Given the description of an element on the screen output the (x, y) to click on. 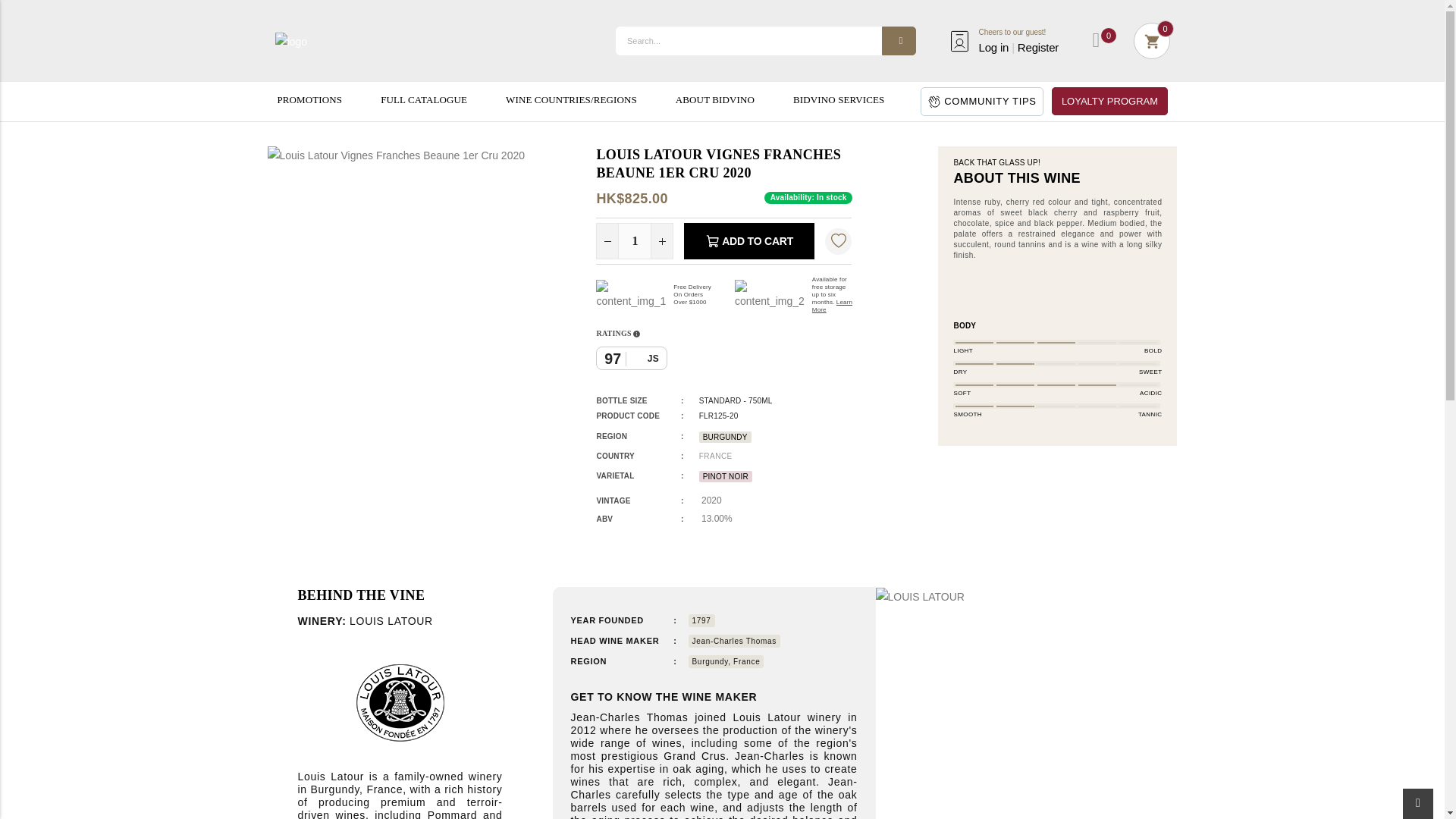
0 (1095, 40)
Register (1037, 47)
PROMOTIONS (309, 99)
Log in (993, 47)
ABOUT BIDVINO (714, 99)
Search (898, 40)
Welcome to bidvino (290, 40)
Add to wishlist (838, 241)
FULL CATALOGUE (423, 99)
FULL CATALOGUE (423, 99)
PROMOTIONS (309, 99)
BIDVINO SERVICES (839, 99)
Bidvino Services (831, 305)
1 (633, 240)
Wishlist (1095, 40)
